Given the description of an element on the screen output the (x, y) to click on. 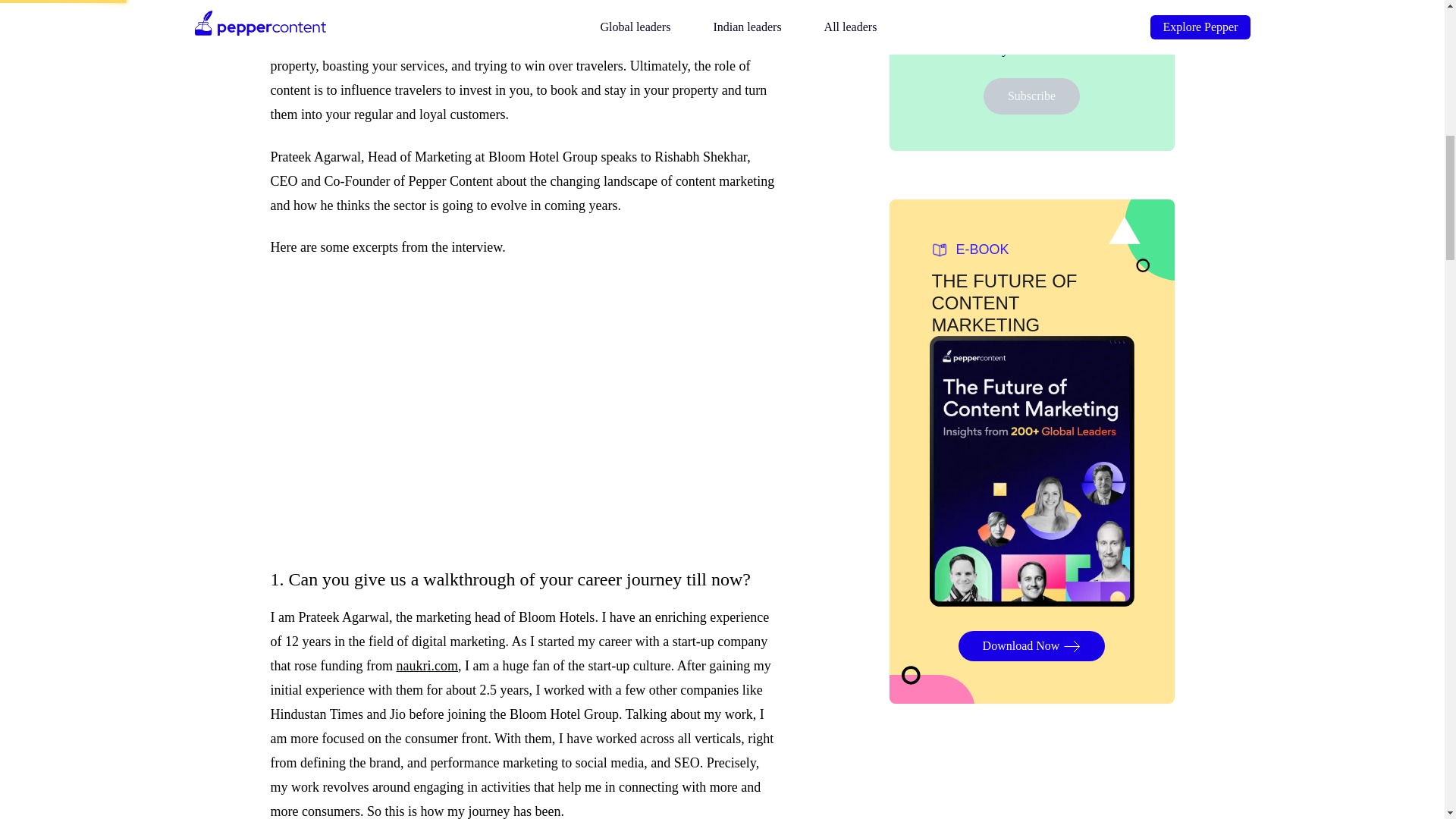
Download Now (1031, 645)
Subscribe (1032, 95)
naukri.com (426, 665)
